Given the description of an element on the screen output the (x, y) to click on. 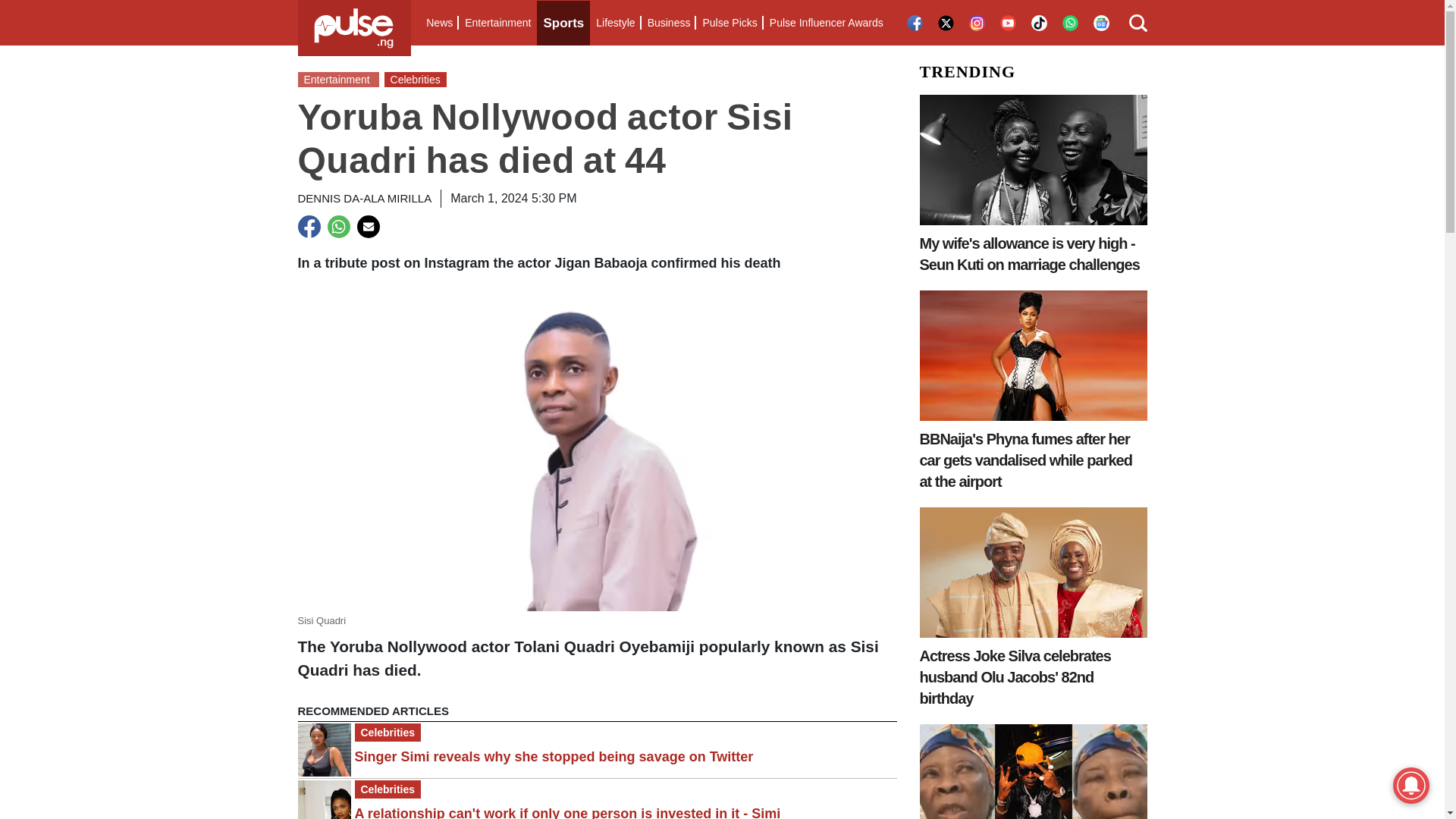
Business (669, 22)
Lifestyle (614, 22)
Entertainment (497, 22)
Sports (563, 22)
